Given the description of an element on the screen output the (x, y) to click on. 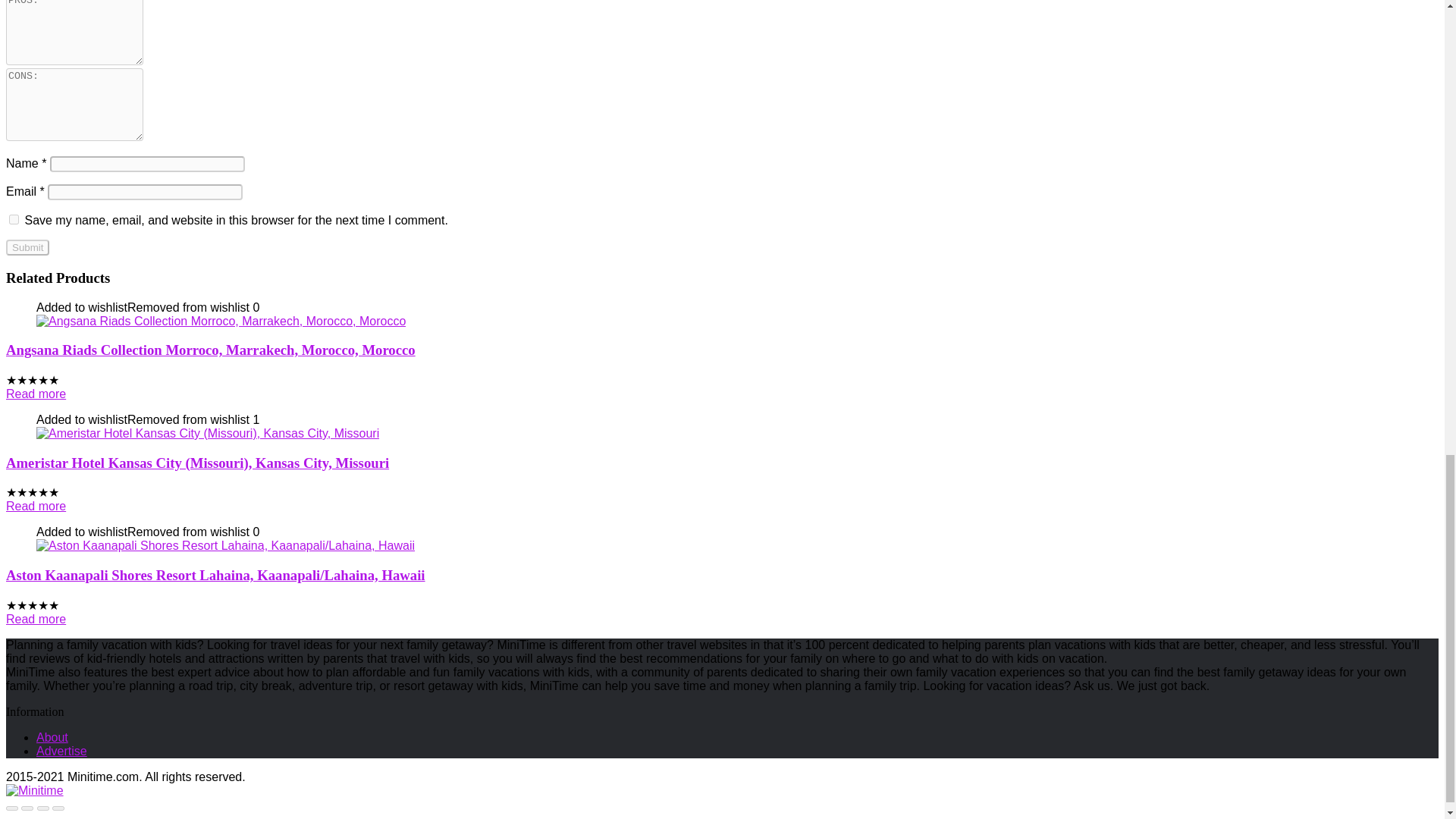
Submit (27, 247)
Read more (35, 618)
About (52, 737)
Read more (35, 393)
Submit (27, 247)
Advertise (61, 750)
Read more (35, 505)
yes (13, 219)
